Given the description of an element on the screen output the (x, y) to click on. 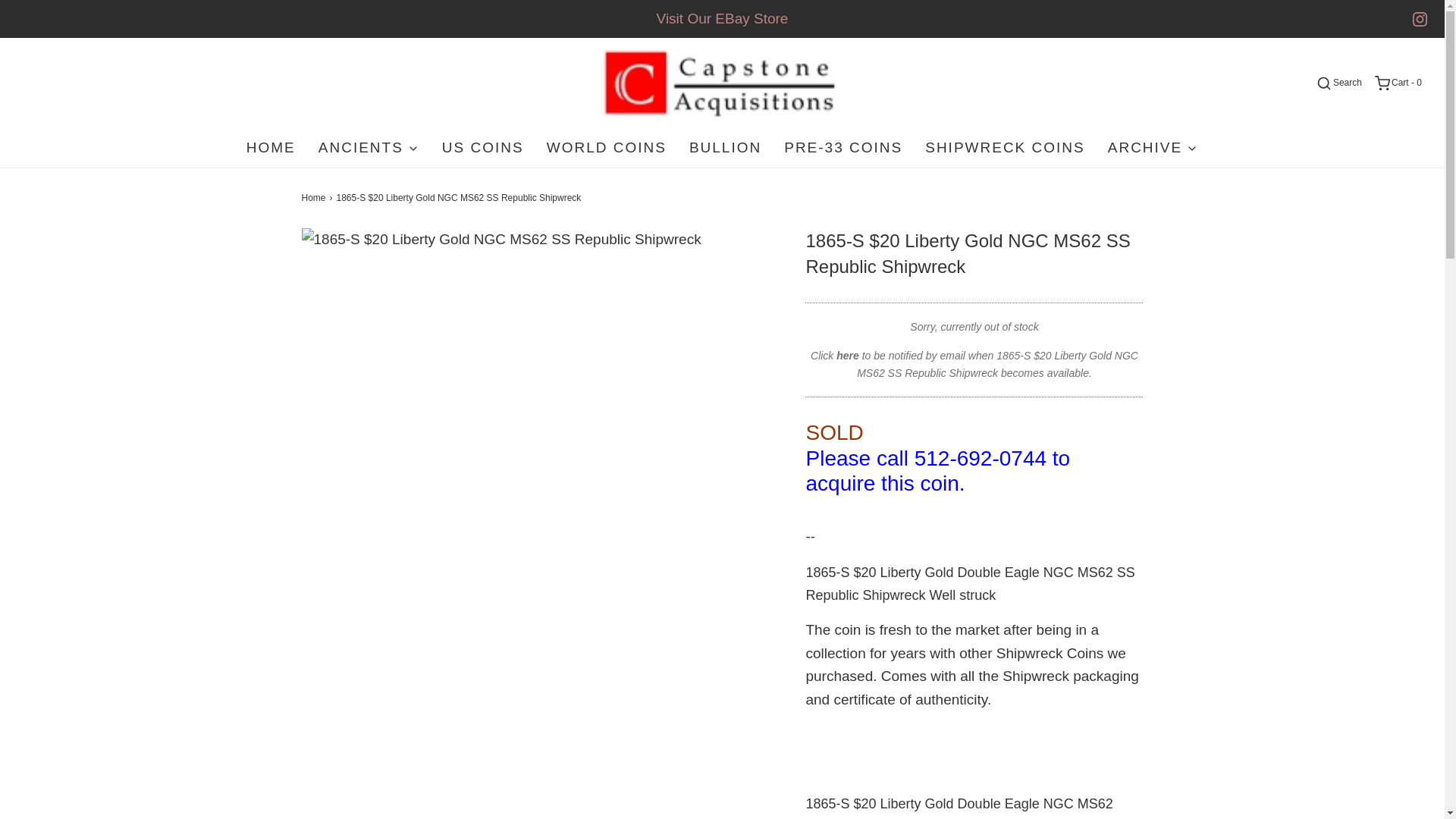
Back to the frontpage (315, 197)
Search (1337, 83)
ANCIENTS (368, 147)
Instagram icon (1419, 19)
Search (1423, 11)
Instagram icon (1419, 19)
Visit Our EBay Store (721, 18)
HOME (270, 147)
Search (1337, 83)
Cart - 0 (1397, 83)
